Given the description of an element on the screen output the (x, y) to click on. 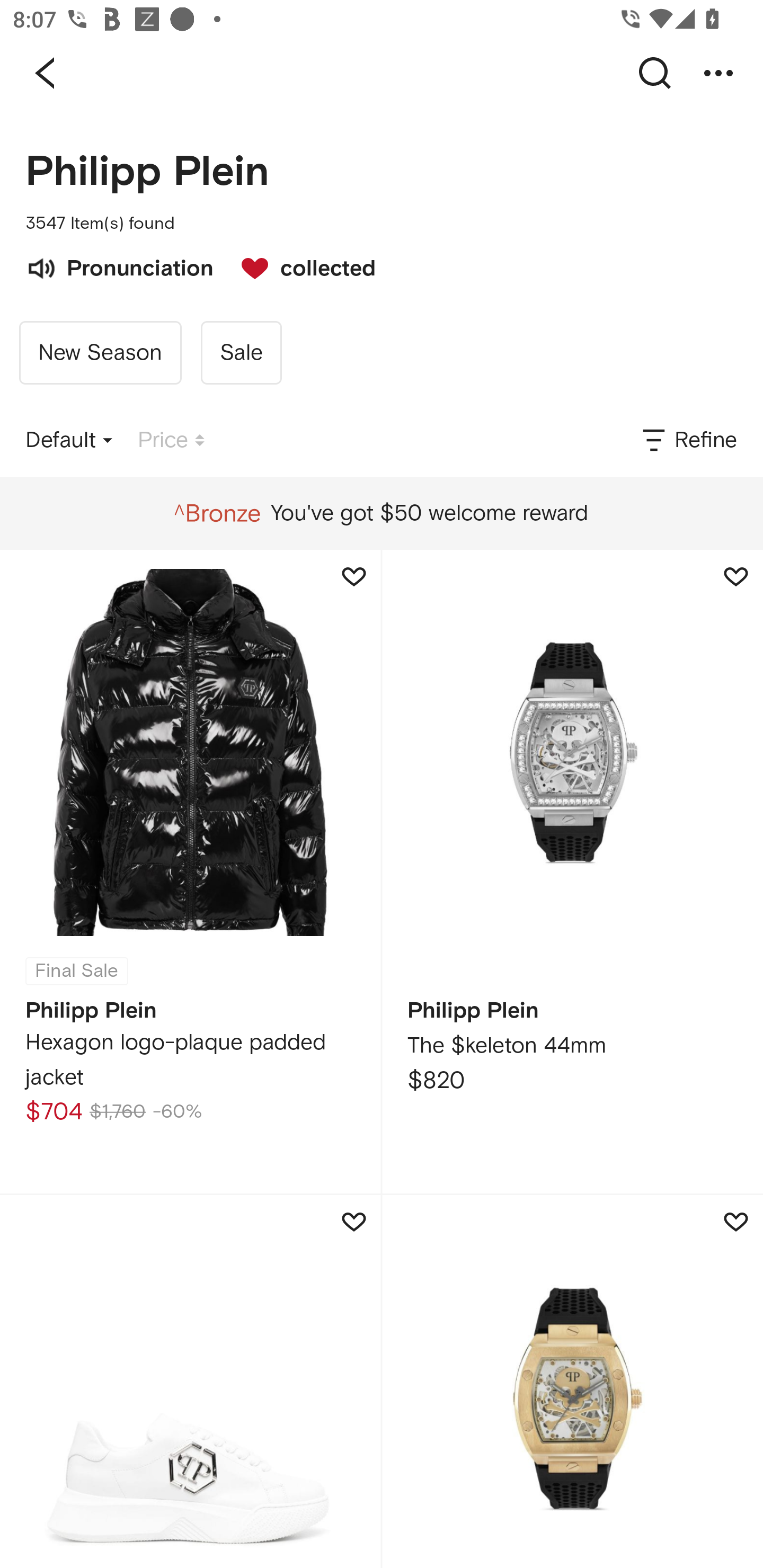
Pronunciation (119, 266)
collected (298, 266)
New Season (100, 352)
Sale (240, 352)
Default (68, 440)
Price (171, 440)
Refine (688, 440)
You've got $50 welcome reward (381, 513)
Philipp Plein The $keleton 44mm $820 (572, 871)
